Given the description of an element on the screen output the (x, y) to click on. 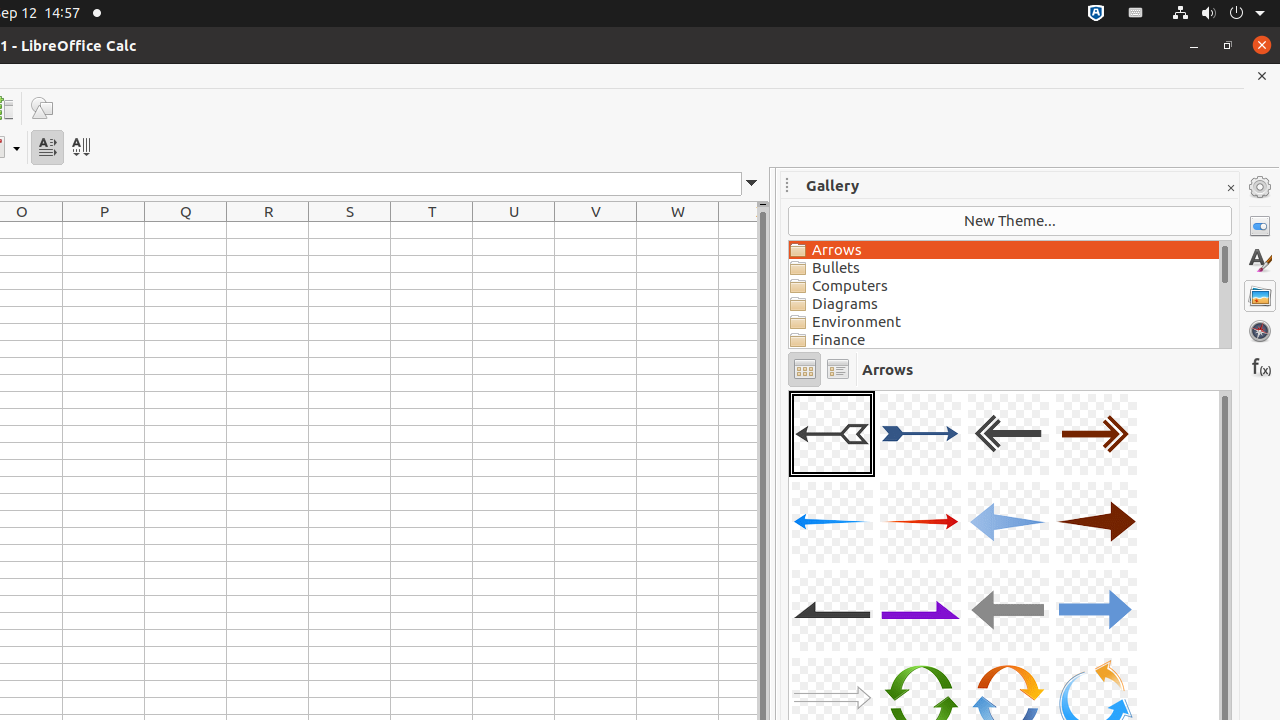
Close Sidebar Deck Element type: push-button (1230, 188)
Q1 Element type: table-cell (186, 230)
A11-Arrow-Gray-Left Element type: list-item (1008, 610)
Draw Functions Element type: toggle-button (41, 108)
Styles Element type: radio-button (1260, 261)
